Given the description of an element on the screen output the (x, y) to click on. 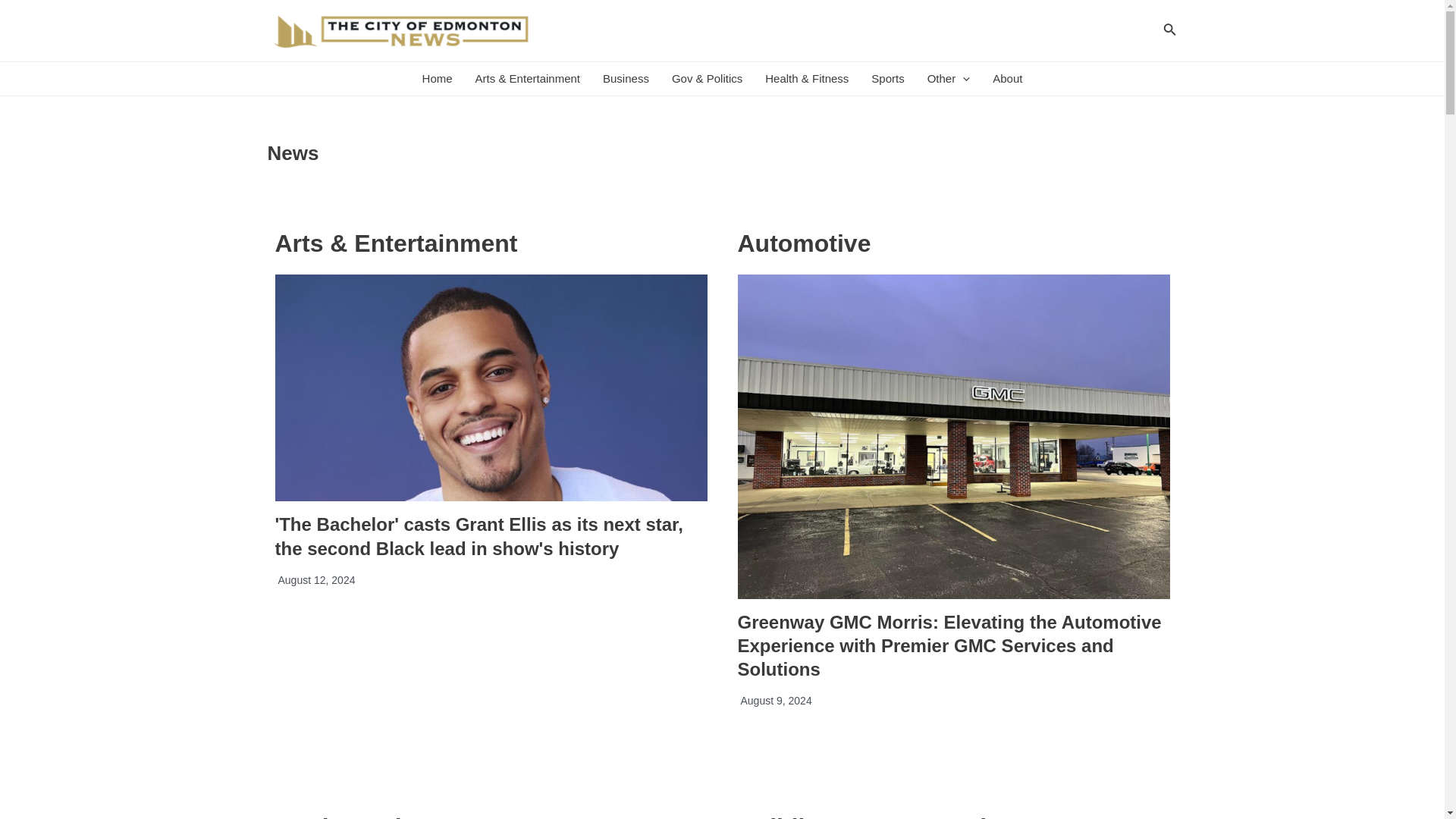
Other (948, 78)
About (1007, 78)
Business (626, 78)
Sports (887, 78)
Home (437, 78)
